Given the description of an element on the screen output the (x, y) to click on. 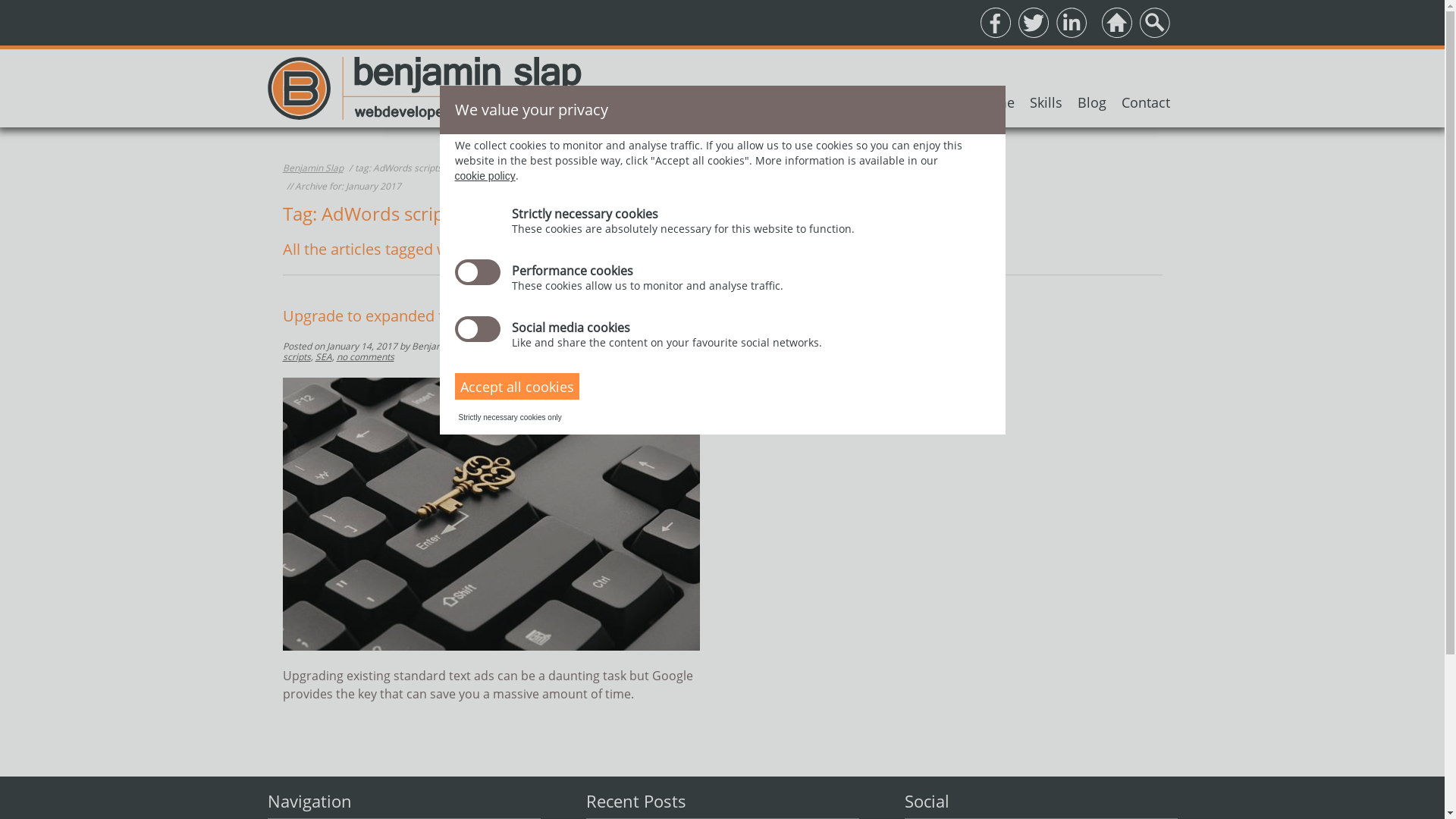
AdWords Element type: text (627, 345)
Benjamin Slap Element type: text (312, 167)
Google Element type: text (544, 345)
Upgrade to expanded text ads in bulk Element type: hover (490, 516)
SEA Element type: text (572, 345)
Strictly necessary cookies only Element type: text (510, 416)
Twitter Element type: text (1032, 22)
Facebook Element type: text (994, 22)
slide Element type: text (477, 329)
Blog Element type: text (1091, 102)
Benjamin Slap Element type: hover (423, 87)
About me Element type: text (983, 102)
LinkedIn Element type: text (1070, 22)
Upgrade to expanded text ads in bulk Element type: text (412, 315)
Skills Element type: text (1046, 102)
Contact Element type: text (1144, 102)
slide Element type: text (477, 272)
Search Element type: text (1154, 22)
SEA Element type: text (323, 356)
Home Element type: text (1116, 22)
no comments Element type: text (365, 356)
cookie policy Element type: text (485, 175)
AdWords scripts Element type: text (485, 351)
